Given the description of an element on the screen output the (x, y) to click on. 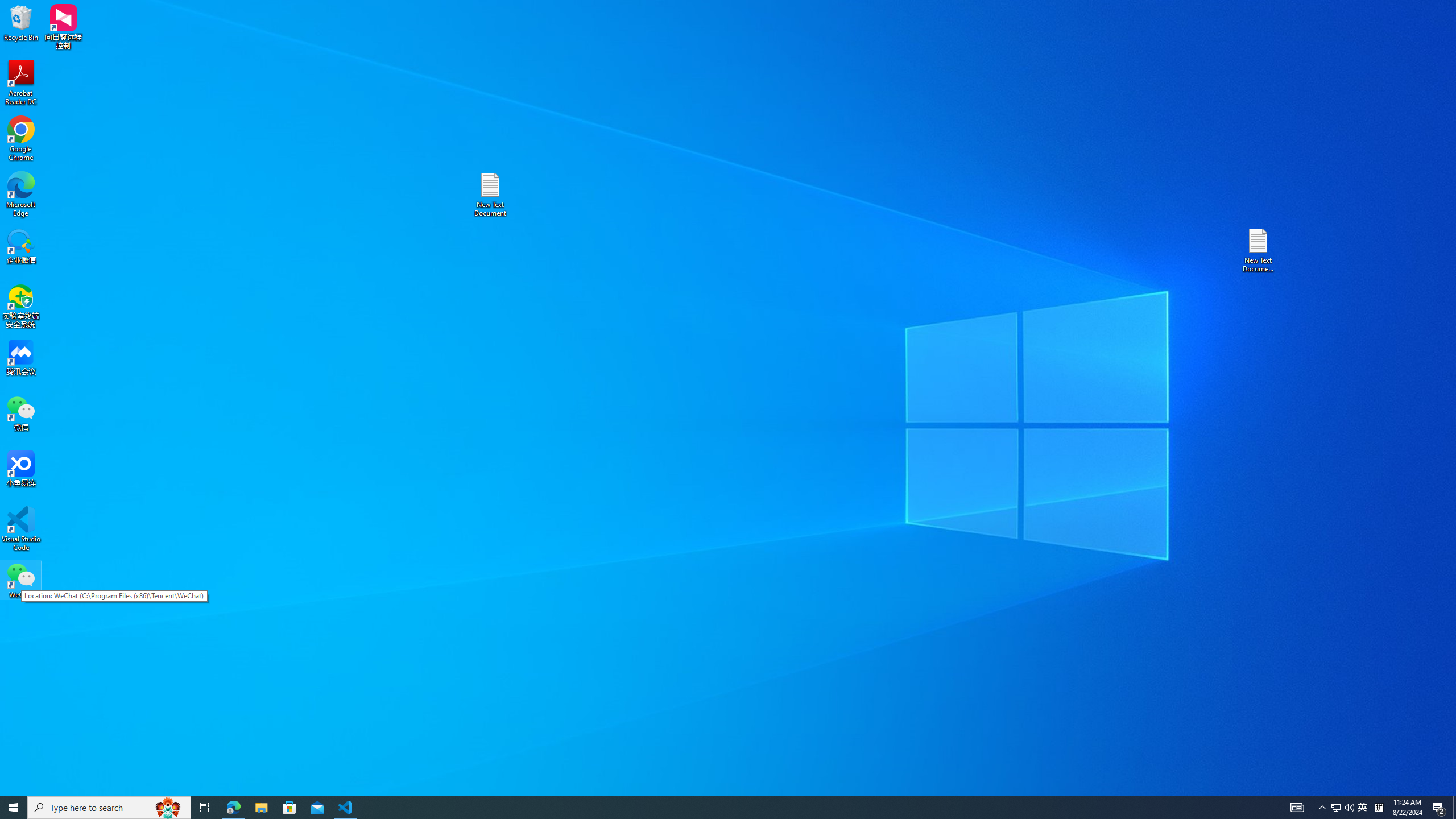
Notification Chevron (1322, 807)
AutomationID: 4105 (1297, 807)
User Promoted Notification Area (1342, 807)
Search highlights icon opens search home window (167, 807)
Recycle Bin (21, 22)
Show desktop (1454, 807)
Tray Input Indicator - Chinese (Simplified, China) (1378, 807)
Microsoft Store (289, 807)
Visual Studio Code (21, 528)
File Explorer (261, 807)
